Given the description of an element on the screen output the (x, y) to click on. 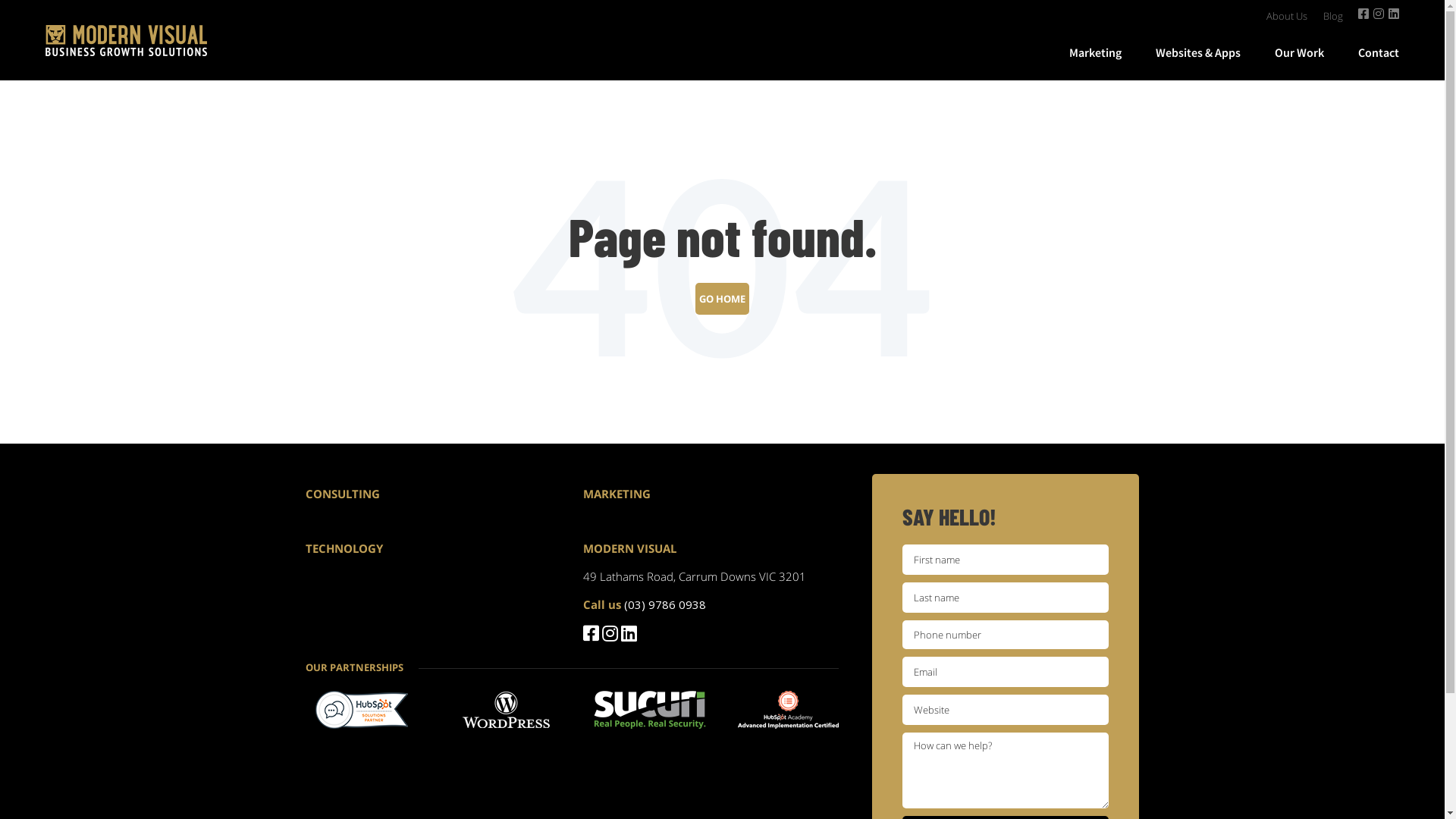
Marketing Element type: text (1095, 52)
Websites & Apps Element type: text (1197, 52)
GO HOME Element type: text (722, 298)
Blog Element type: text (1333, 12)
(03) 9786 0938 Element type: text (665, 603)
Modern Visual Element type: hover (126, 40)
Our Work Element type: text (1299, 52)
Contact Element type: text (1378, 52)
About Us Element type: text (1286, 12)
